Given the description of an element on the screen output the (x, y) to click on. 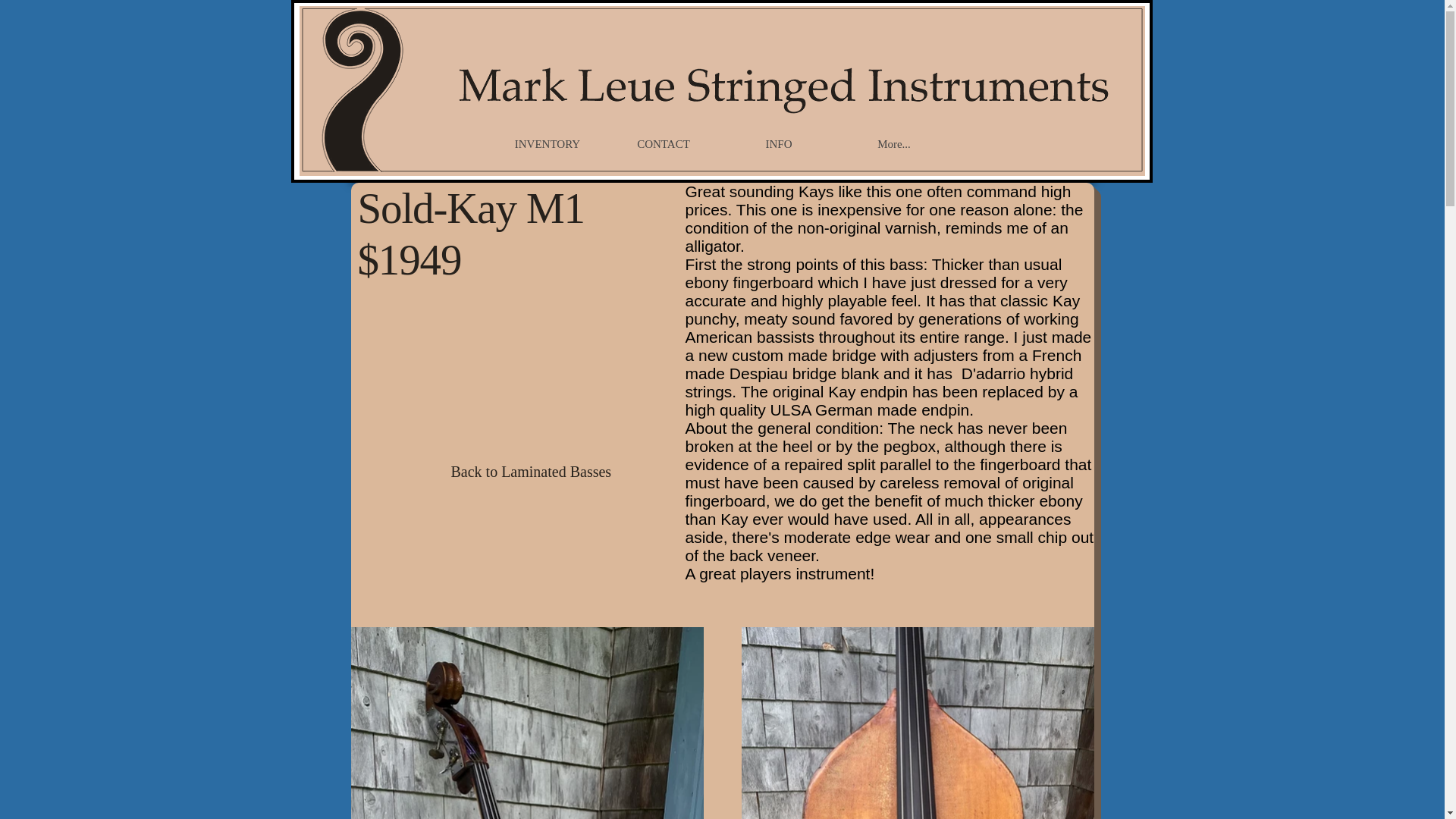
CONTACT (662, 144)
Back to Laminated Basses (530, 471)
INFO (777, 144)
